Given the description of an element on the screen output the (x, y) to click on. 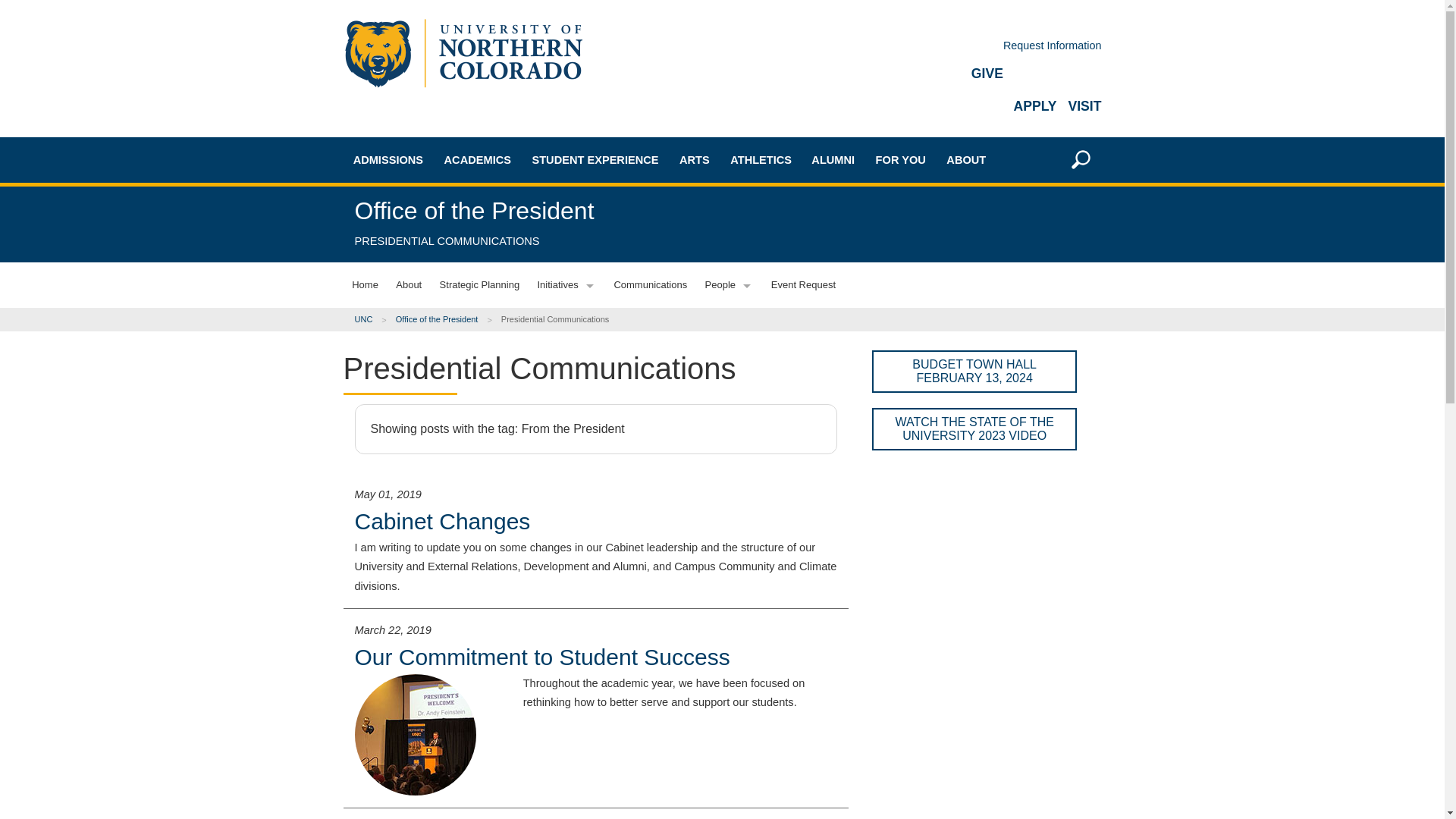
Undergraduate Programs (509, 233)
Academic Overview (509, 207)
Research (509, 419)
Bookstore (509, 393)
Schedule of Classes (509, 366)
Search (1067, 370)
Graduate (418, 281)
Orientation (418, 509)
Departments and Colleges (509, 286)
Education Abroad (509, 313)
Costs (418, 382)
ACADEMICS (477, 159)
Virtual Tour (418, 483)
First-Year (418, 228)
ADMISSIONS (387, 159)
